Given the description of an element on the screen output the (x, y) to click on. 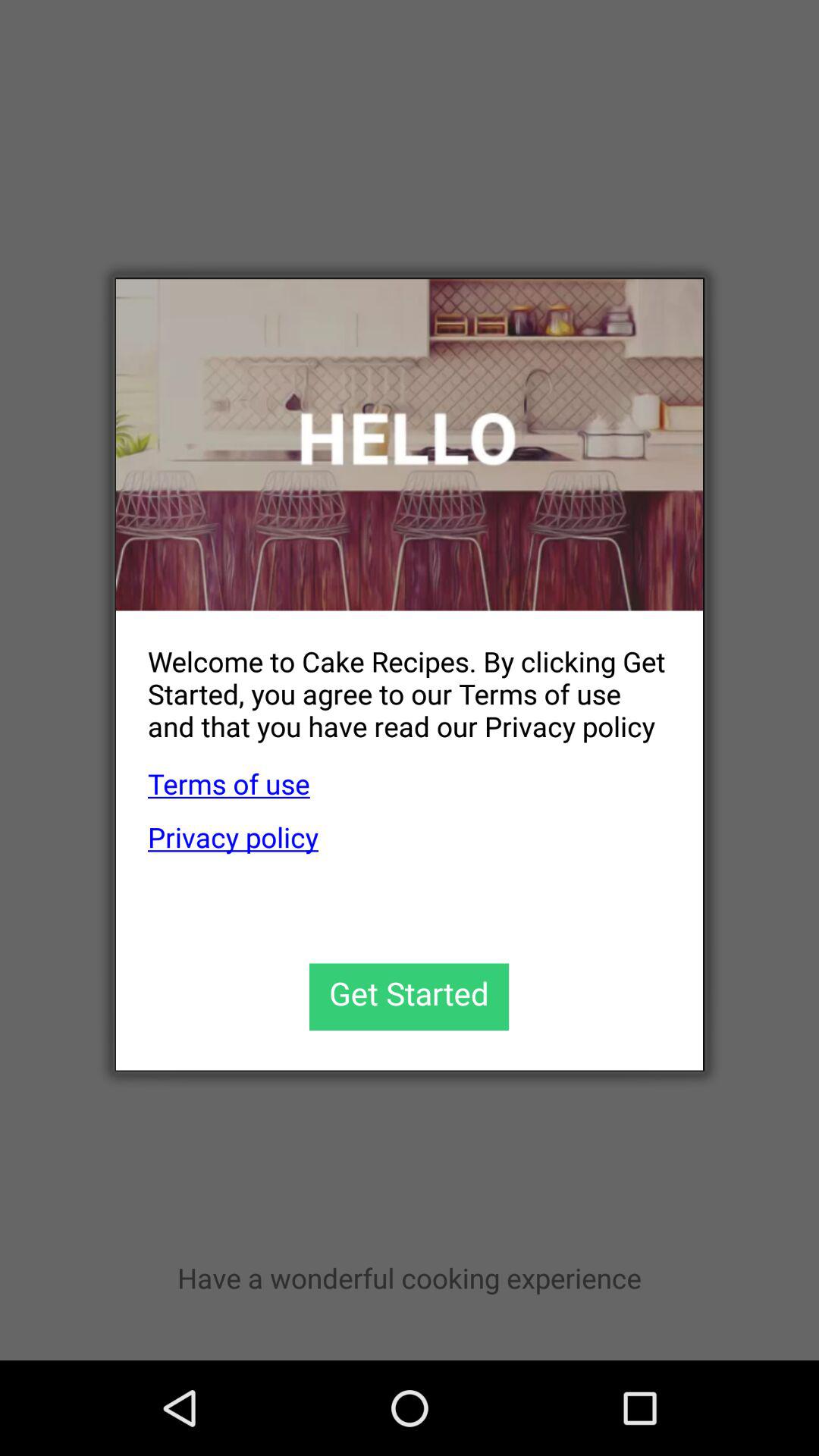
choose app below privacy policy (409, 996)
